Given the description of an element on the screen output the (x, y) to click on. 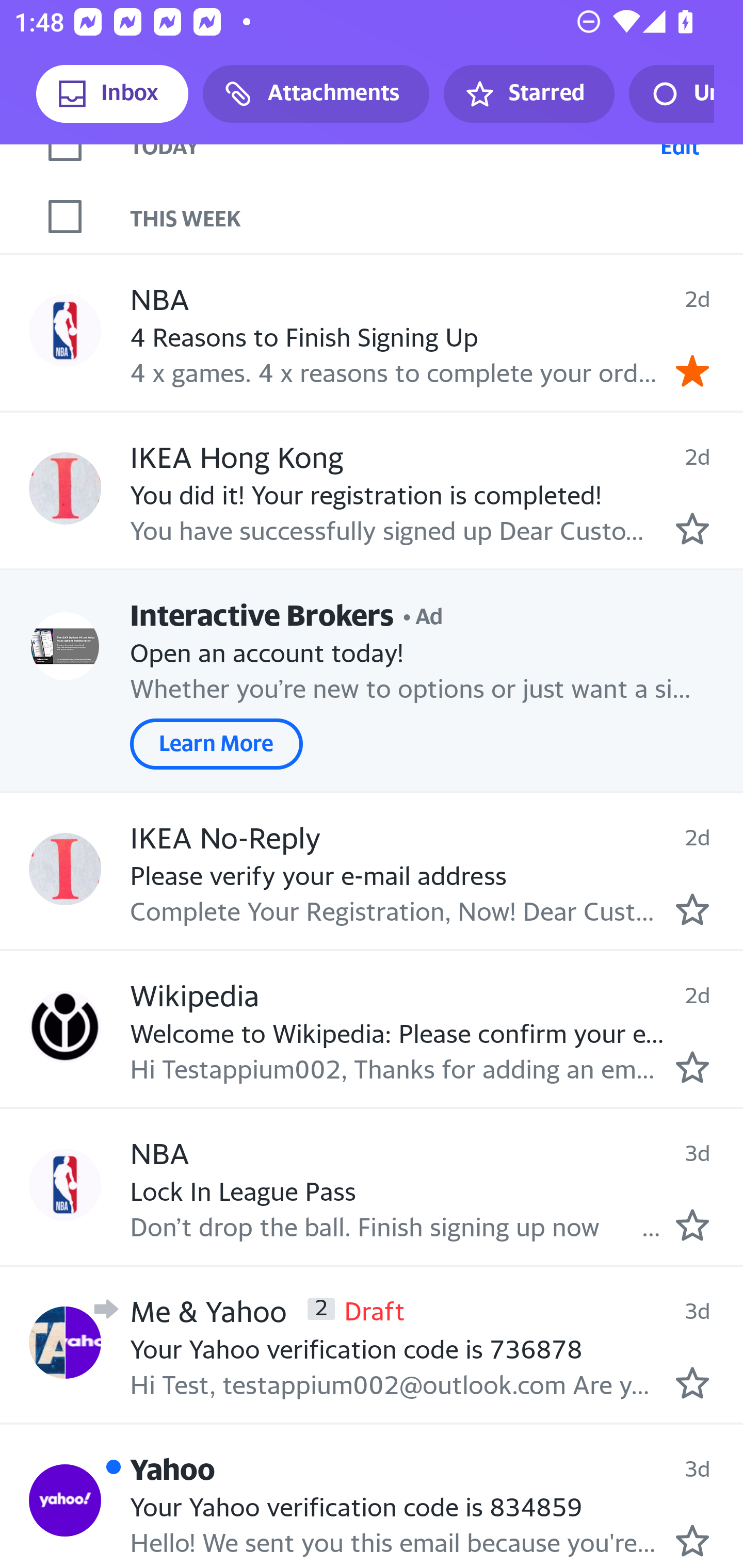
Attachments (315, 93)
Starred (528, 93)
THIS WEEK (436, 216)
Profile
NBA (64, 330)
Remove star. (692, 370)
Profile
IKEA Hong Kong (64, 488)
Mark as starred. (692, 529)
Profile
IKEA No-Reply (64, 868)
Mark as starred. (692, 908)
Profile
Wikipedia (64, 1026)
Mark as starred. (692, 1066)
Profile
NBA (64, 1185)
Mark as starred. (692, 1225)
Profile
Me & Yahoo (64, 1342)
Mark as starred. (692, 1382)
Profile
Yahoo (64, 1500)
Mark as starred. (692, 1540)
